Given the description of an element on the screen output the (x, y) to click on. 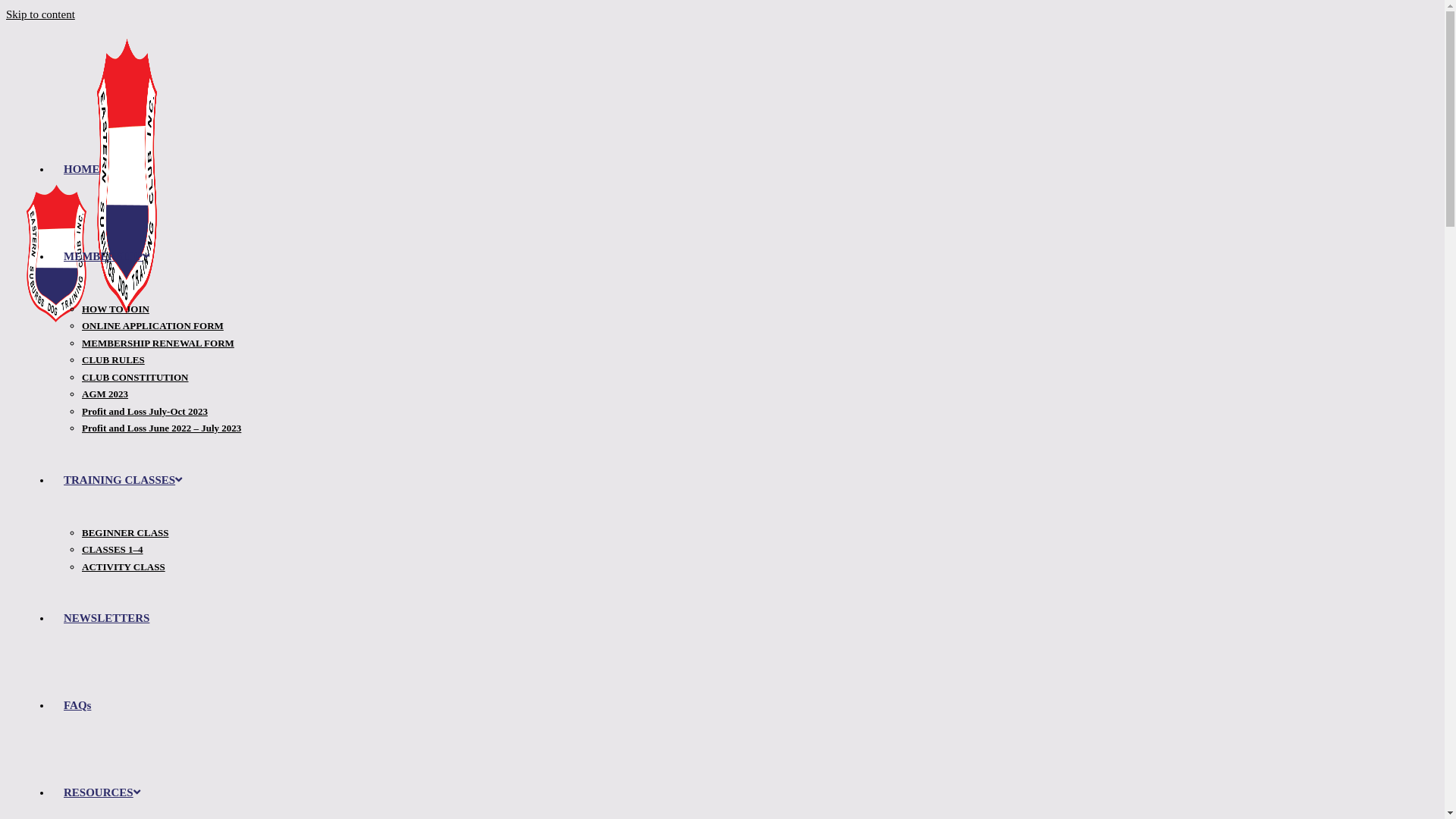
CLUB CONSTITUTION Element type: text (134, 376)
Profit and Loss July-Oct 2023 Element type: text (144, 410)
AGM 2023 Element type: text (104, 393)
HOW TO JOIN Element type: text (115, 308)
TRAINING CLASSES Element type: text (122, 479)
FAQs Element type: text (77, 705)
HOME Element type: text (81, 168)
RESOURCES Element type: text (101, 792)
ACTIVITY CLASS Element type: text (123, 566)
Skip to content Element type: text (40, 14)
NEWSLETTERS Element type: text (106, 617)
CLUB RULES Element type: text (112, 359)
BEGINNER CLASS Element type: text (125, 531)
MEMBERSHIP RENEWAL FORM Element type: text (157, 342)
ONLINE APPLICATION FORM Element type: text (152, 325)
MEMBERSHIP Element type: text (106, 256)
